Given the description of an element on the screen output the (x, y) to click on. 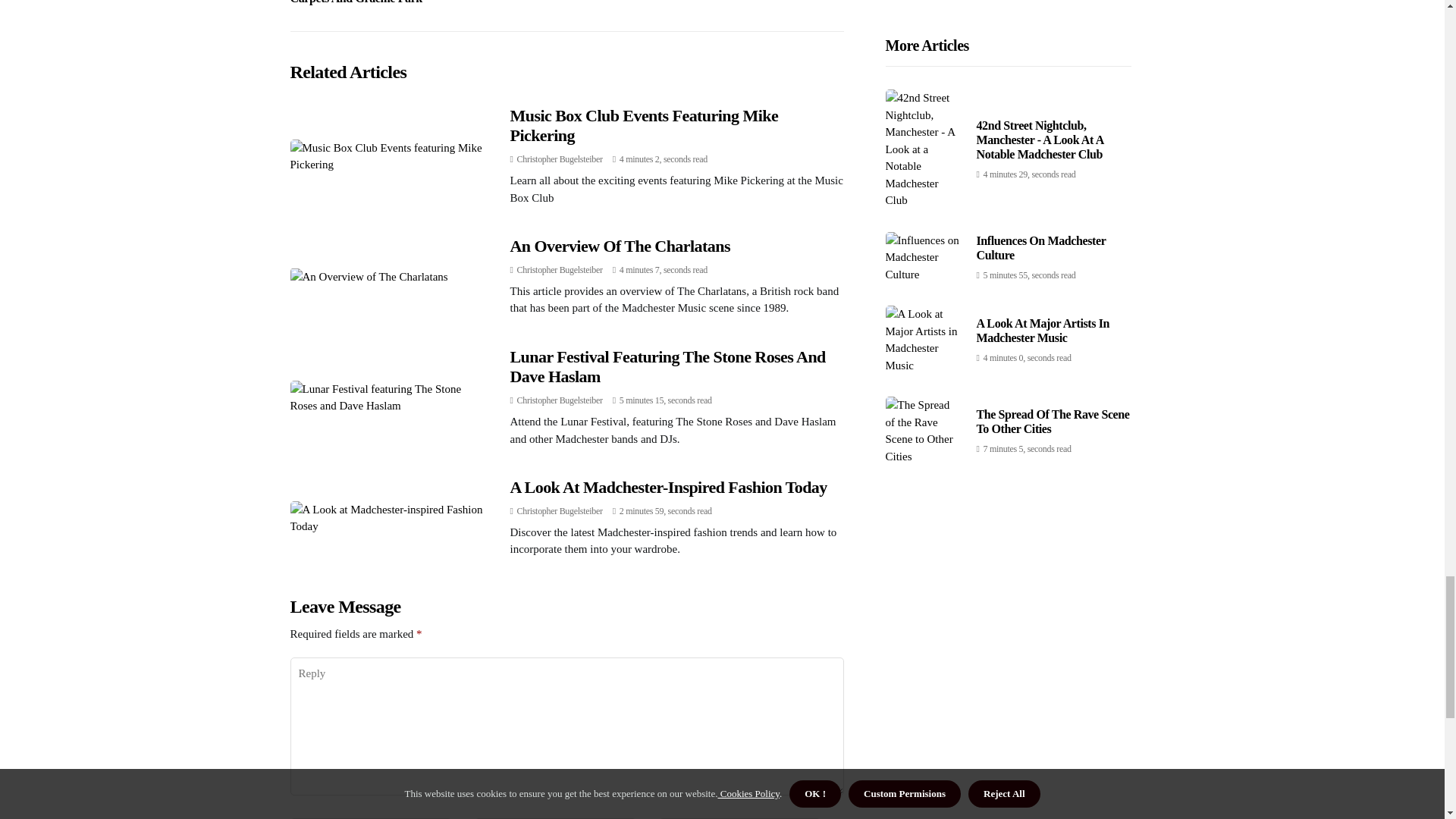
Posts by Christopher Bugelsteiber (559, 269)
Posts by Christopher Bugelsteiber (559, 511)
Posts by Christopher Bugelsteiber (559, 158)
Posts by Christopher Bugelsteiber (559, 399)
